Given the description of an element on the screen output the (x, y) to click on. 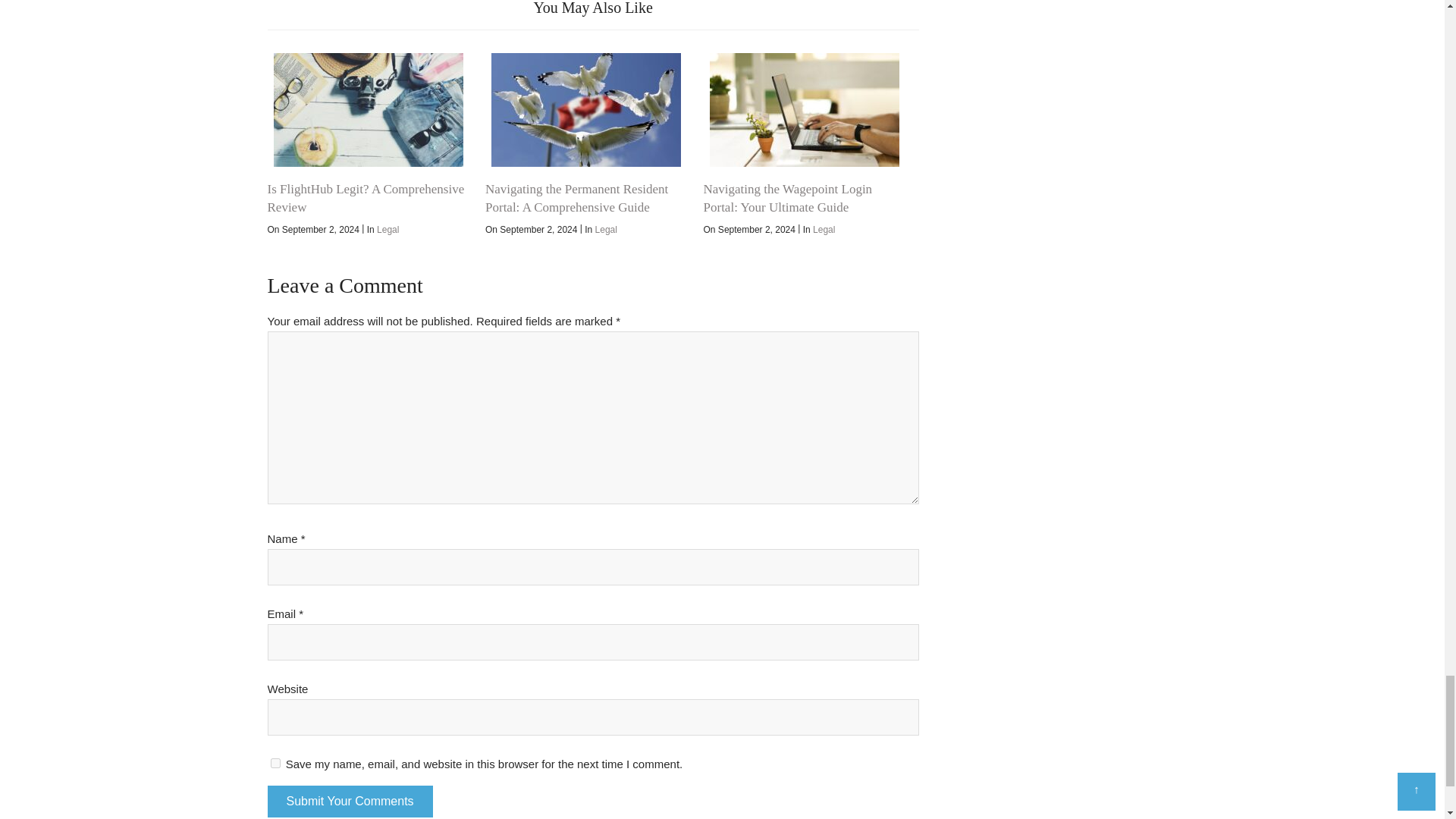
Is FlightHub Legit? A Comprehensive Review (365, 197)
yes (274, 763)
Navigating the Wagepoint Login Portal: Your Ultimate Guide (787, 197)
Legal (606, 229)
Submit Your Comments (349, 801)
Submit Your Comments (349, 801)
Navigating the Wagepoint Login Portal: Your Ultimate Guide (804, 110)
Legal (387, 229)
